Given the description of an element on the screen output the (x, y) to click on. 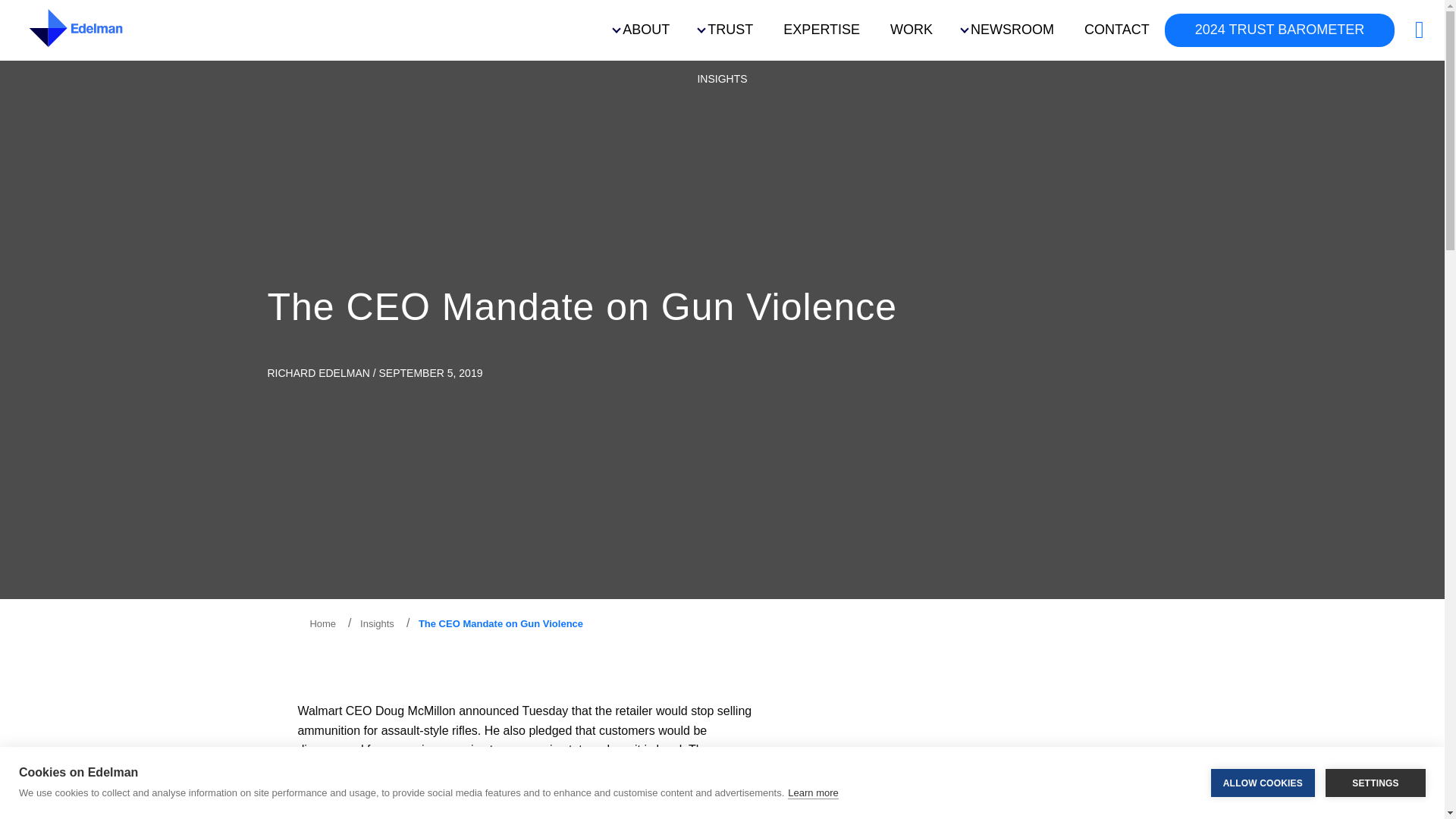
Home (322, 624)
Insights (376, 624)
